Given the description of an element on the screen output the (x, y) to click on. 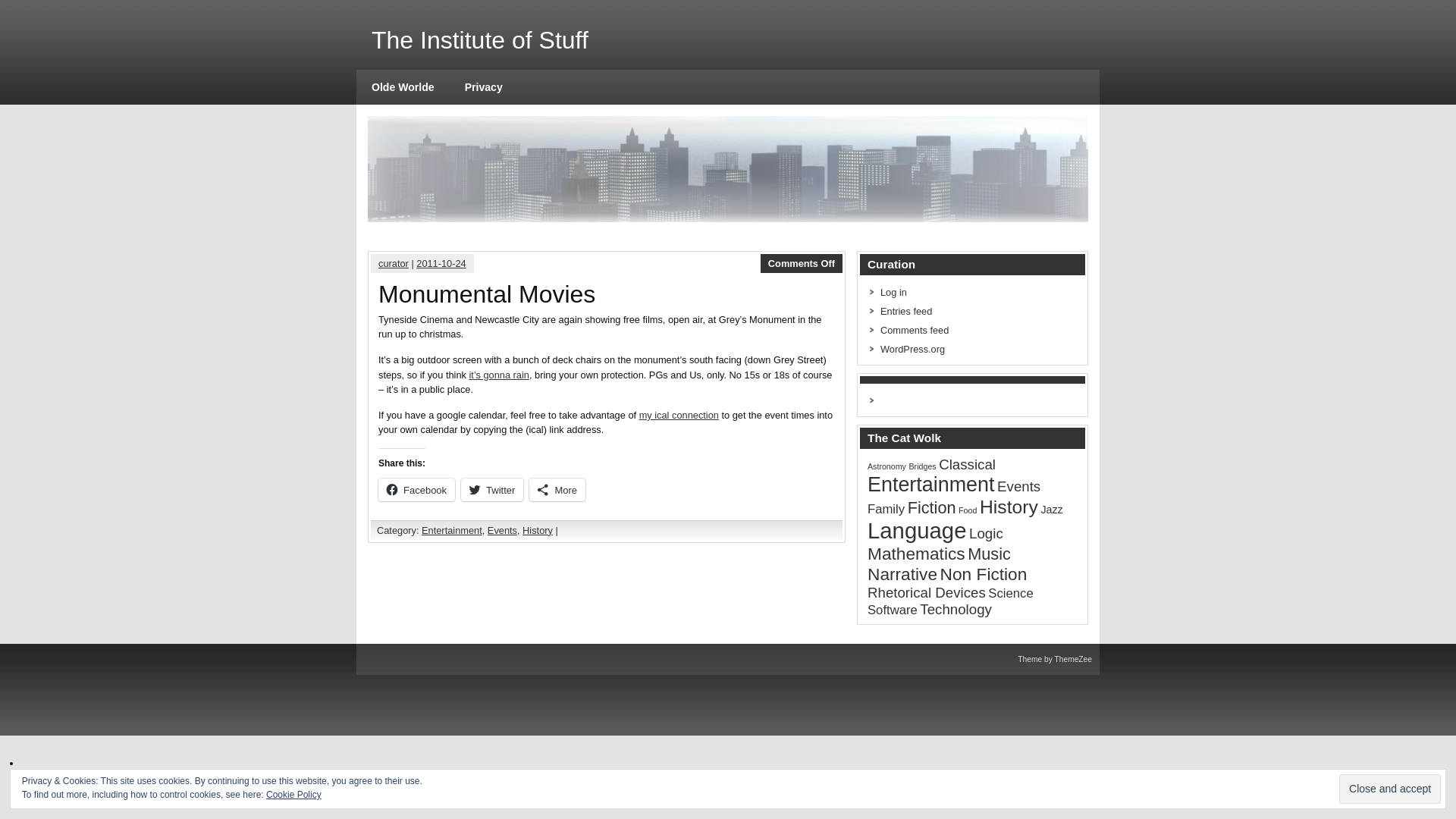
Fiction (931, 506)
Narrative (902, 573)
Events (1019, 486)
Rhetorical Devices (926, 592)
Posts by curator (393, 263)
History (537, 530)
Entertainment (451, 530)
Bridges (922, 465)
Log in (893, 292)
Theme by ThemeZee (1054, 659)
Click to share on Twitter (491, 489)
History (1008, 506)
Technology (955, 609)
WordPress.org (912, 348)
Logic (986, 533)
